Given the description of an element on the screen output the (x, y) to click on. 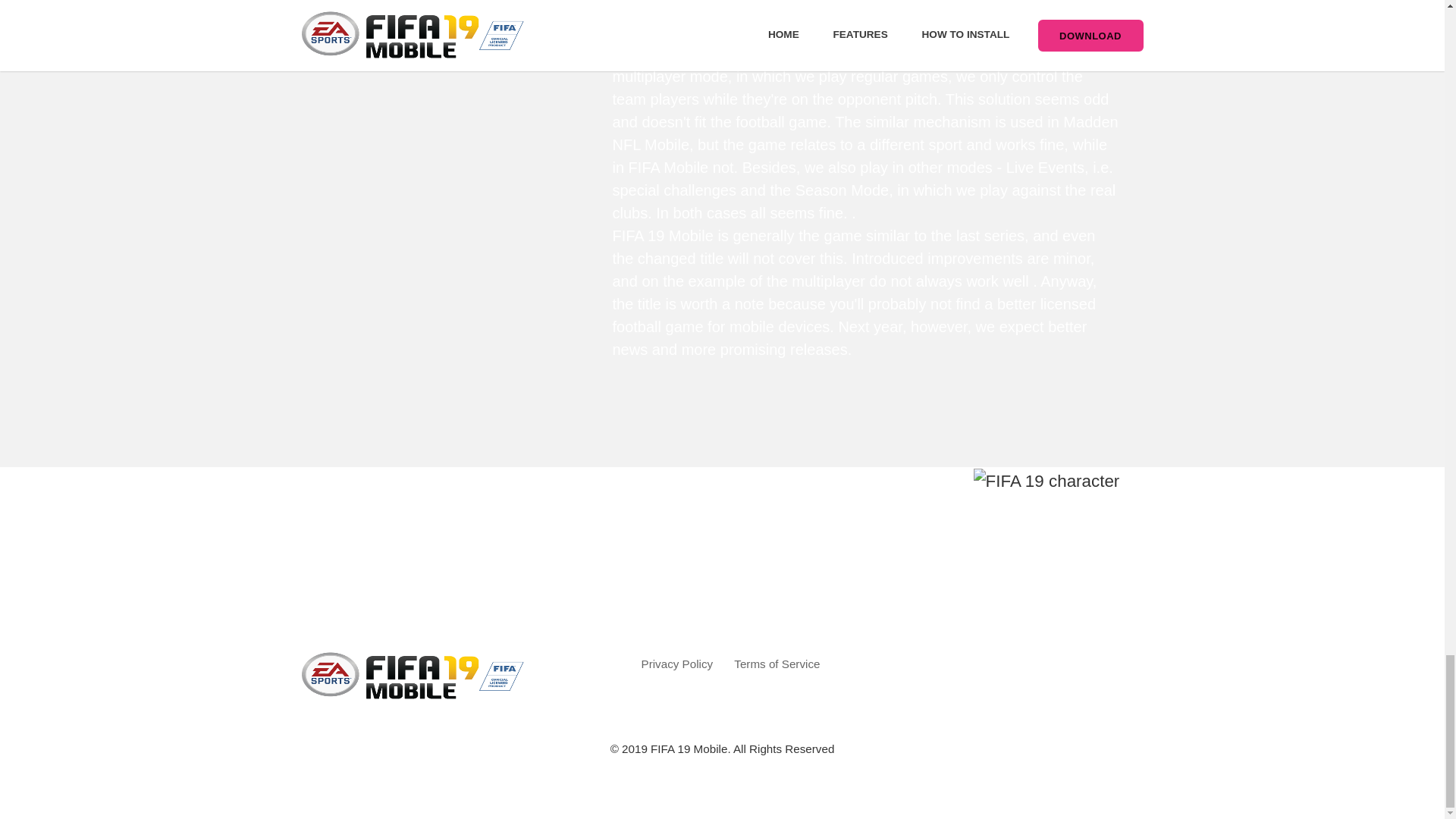
Terms of Service (776, 663)
Privacy Policy (677, 663)
